Given the description of an element on the screen output the (x, y) to click on. 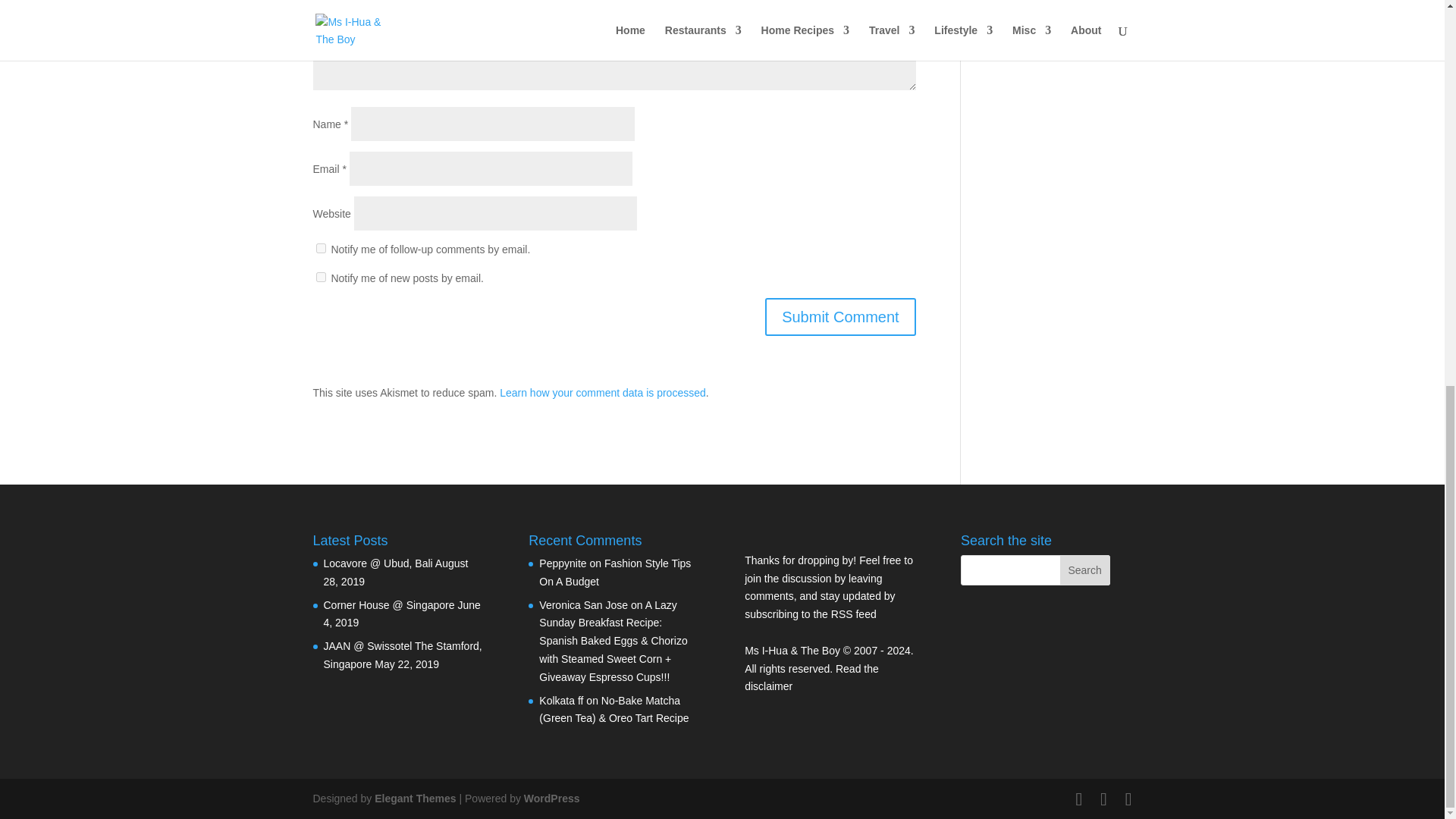
subscribe (319, 248)
Premium WordPress Themes (414, 798)
subscribe (319, 276)
Submit Comment (840, 316)
Search (1084, 570)
